Given the description of an element on the screen output the (x, y) to click on. 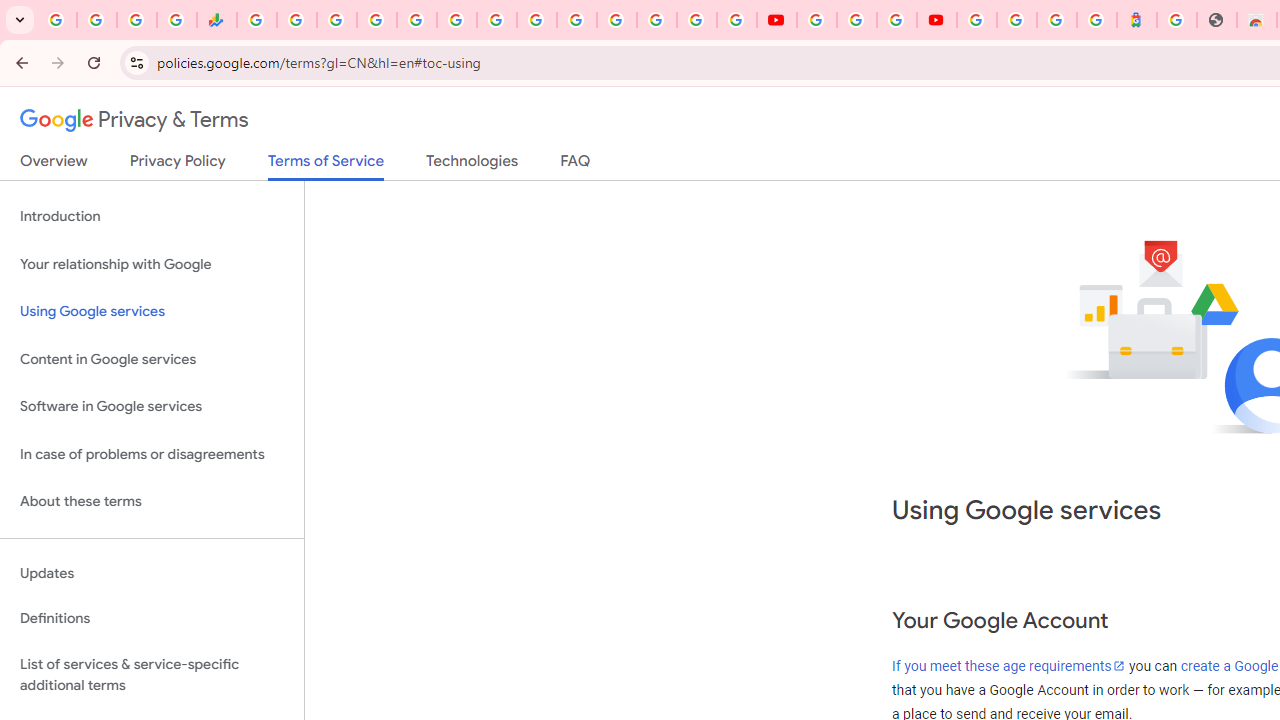
Technologies (472, 165)
Content Creator Programs & Opportunities - YouTube Creators (936, 20)
About these terms (152, 502)
Sign in - Google Accounts (977, 20)
Definitions (152, 619)
Sign in - Google Accounts (576, 20)
Atour Hotel - Google hotels (1137, 20)
Sign in - Google Accounts (657, 20)
Updates (152, 573)
